Given the description of an element on the screen output the (x, y) to click on. 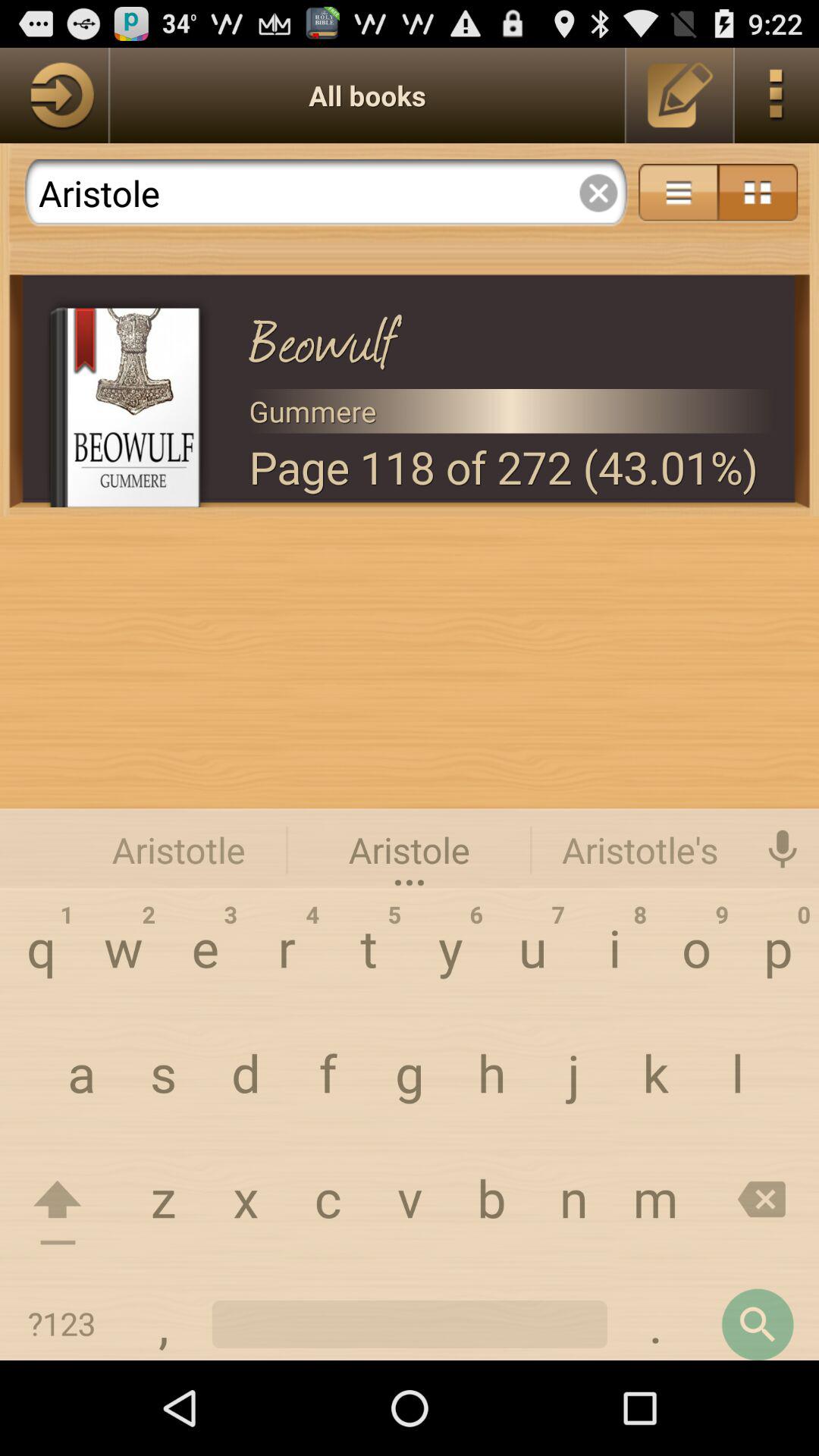
write draw option (680, 95)
